Given the description of an element on the screen output the (x, y) to click on. 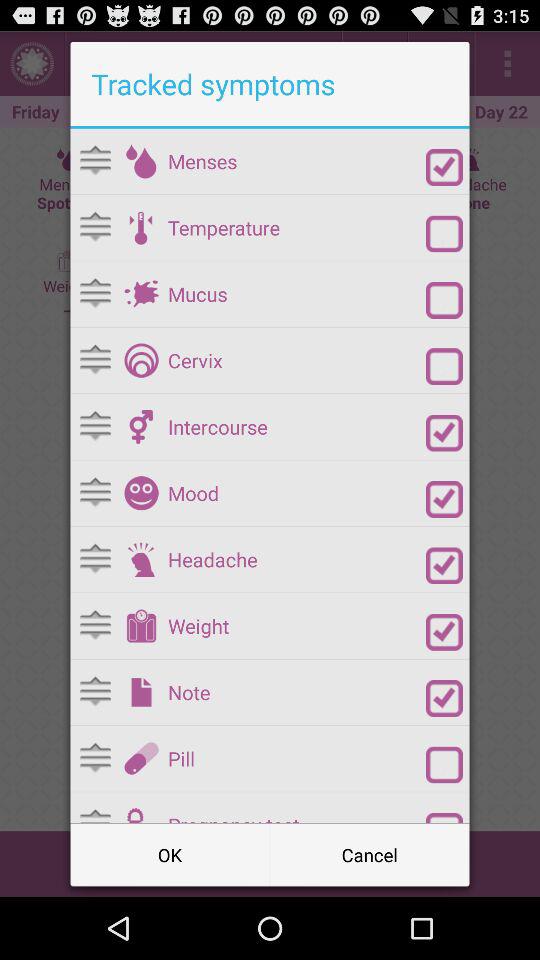
track pill usage (444, 764)
